Given the description of an element on the screen output the (x, y) to click on. 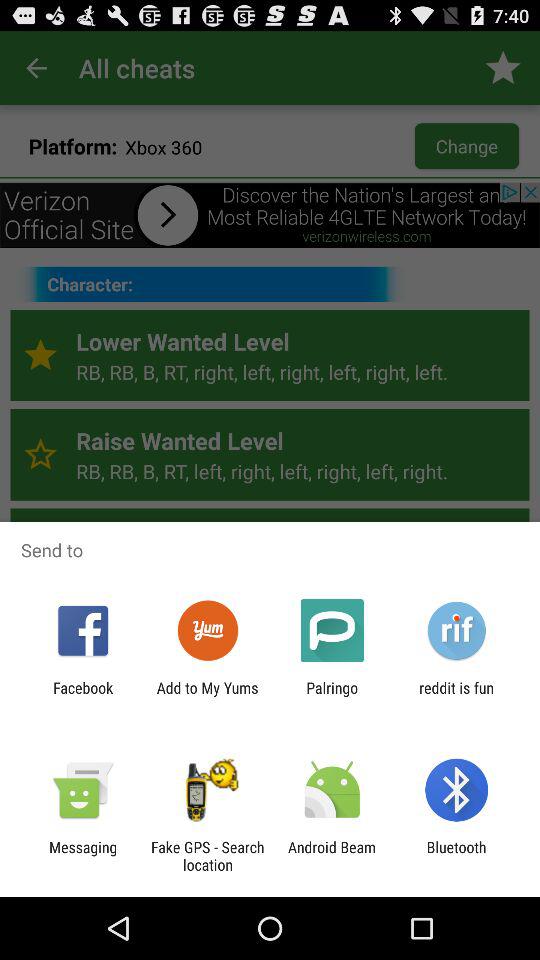
open app next to the palringo item (207, 696)
